Given the description of an element on the screen output the (x, y) to click on. 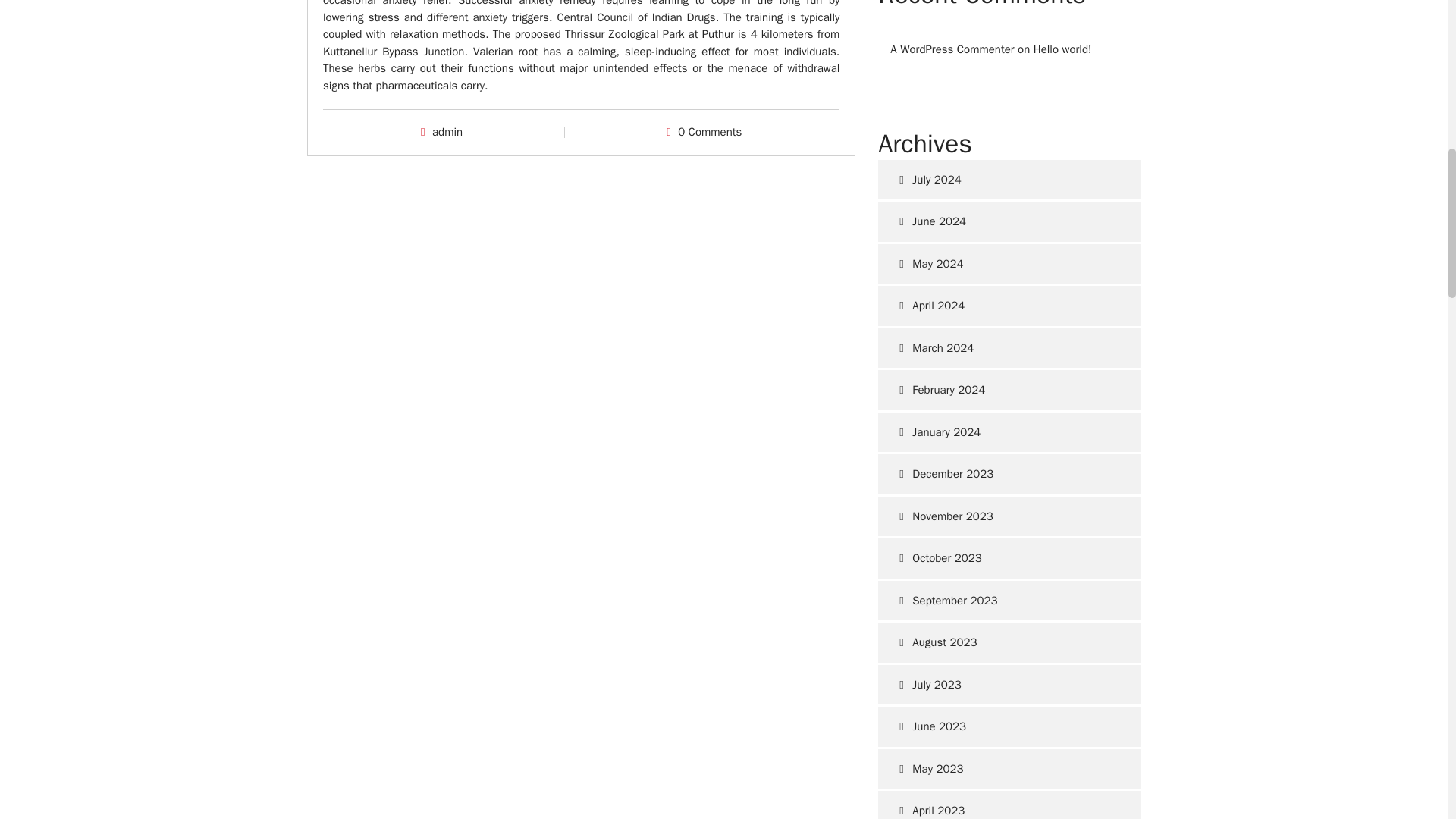
March 2024 (1009, 348)
September 2023 (1009, 600)
August 2023 (1009, 642)
April 2024 (1009, 305)
December 2023 (1009, 474)
July 2023 (1009, 685)
0 Comments (709, 131)
February 2024 (1009, 390)
January 2024 (1009, 432)
A WordPress Commenter (951, 49)
